Given the description of an element on the screen output the (x, y) to click on. 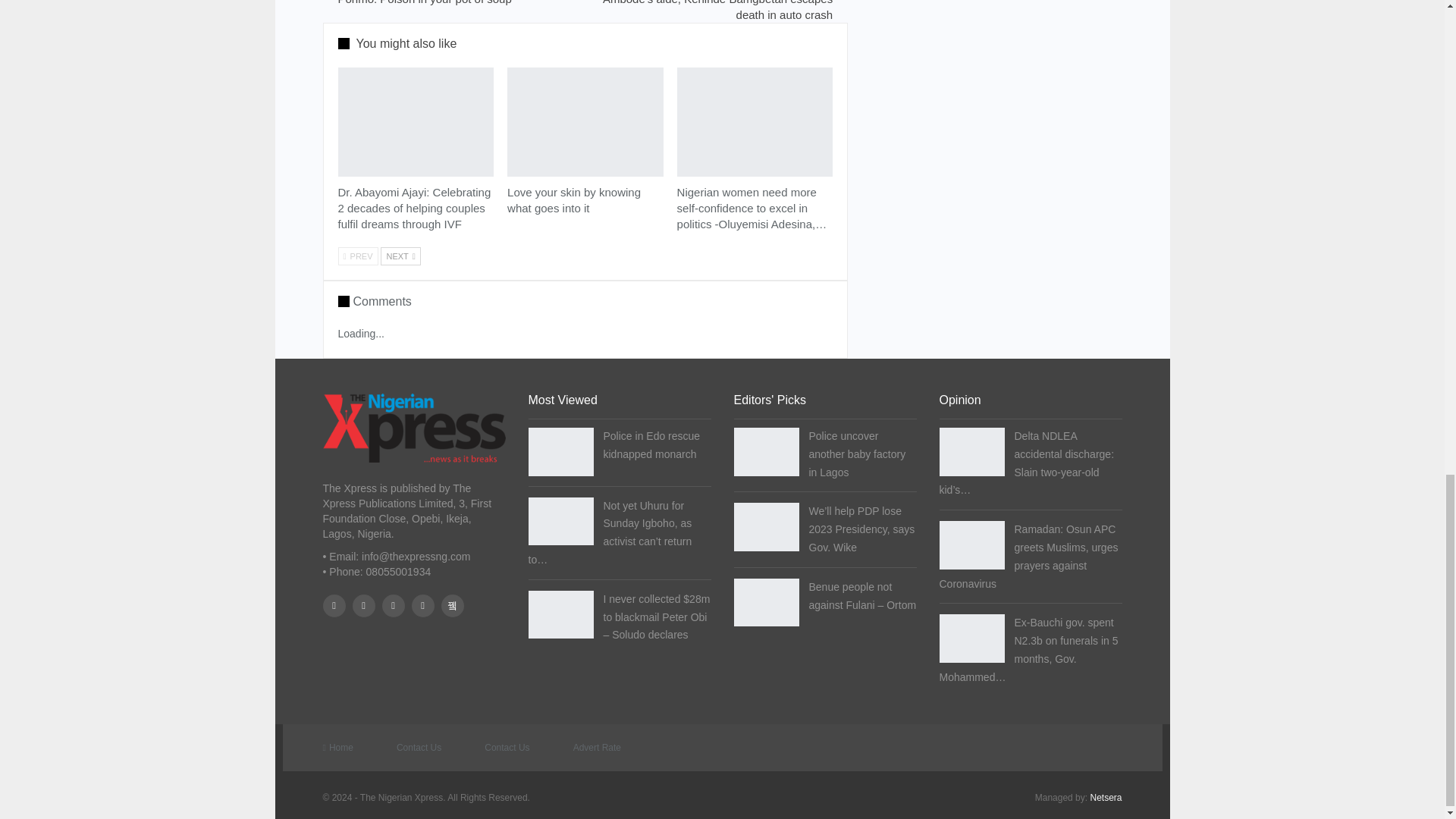
Love your skin by knowing what goes into it (584, 121)
Love your skin by knowing what goes into it (573, 199)
